Given the description of an element on the screen output the (x, y) to click on. 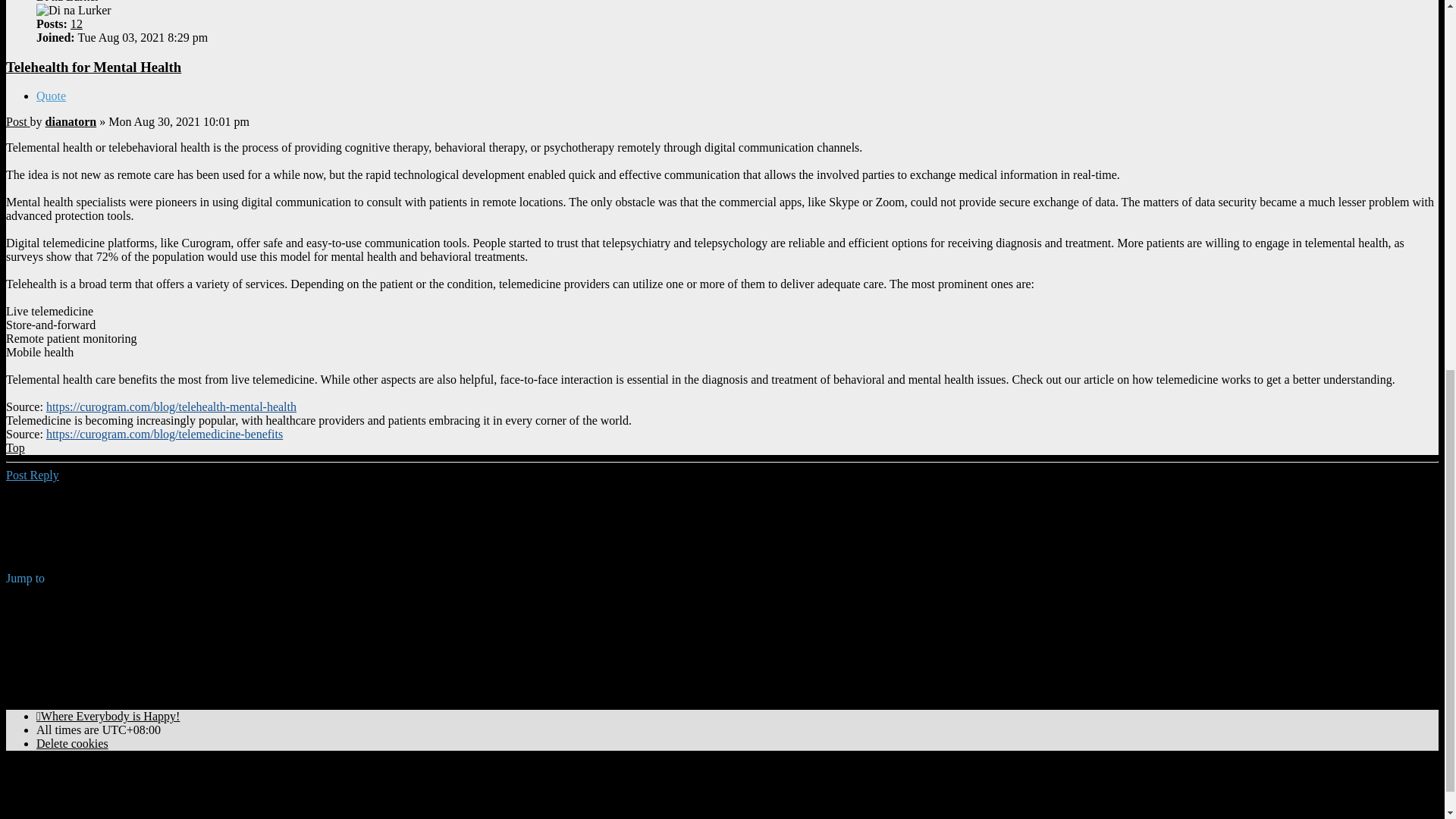
Post (17, 121)
12 (75, 23)
Top (14, 447)
Di na Lurker (74, 10)
Reply with quote (50, 95)
